Given the description of an element on the screen output the (x, y) to click on. 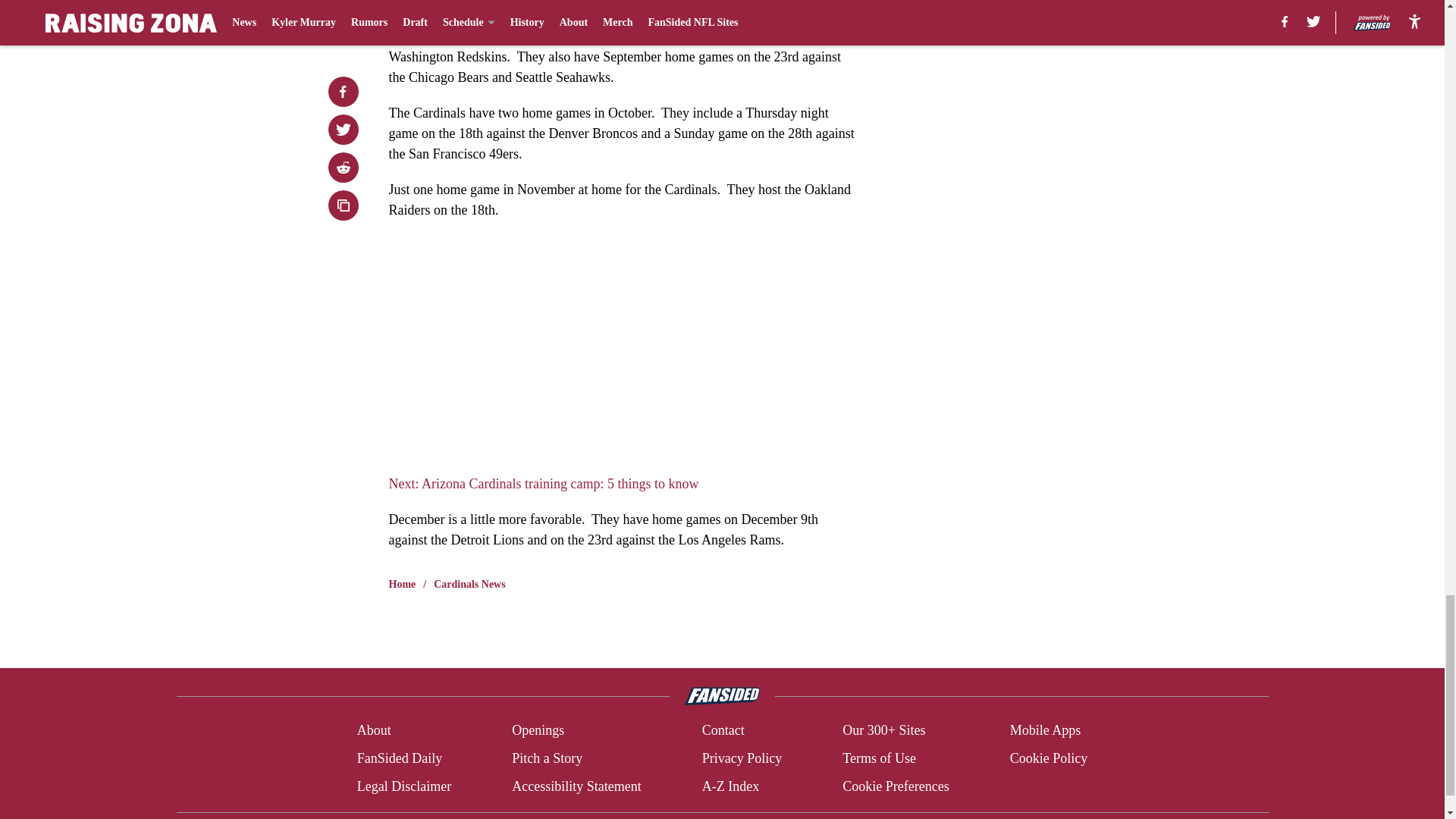
Mobile Apps (1045, 730)
Accessibility Statement (576, 786)
Pitch a Story (547, 758)
Cookie Policy (1048, 758)
Cardinals News (469, 584)
Legal Disclaimer (403, 786)
FanSided Daily (399, 758)
Openings (538, 730)
Cardinals open the season at home on Sunday September 9th (579, 36)
Privacy Policy (742, 758)
